Given the description of an element on the screen output the (x, y) to click on. 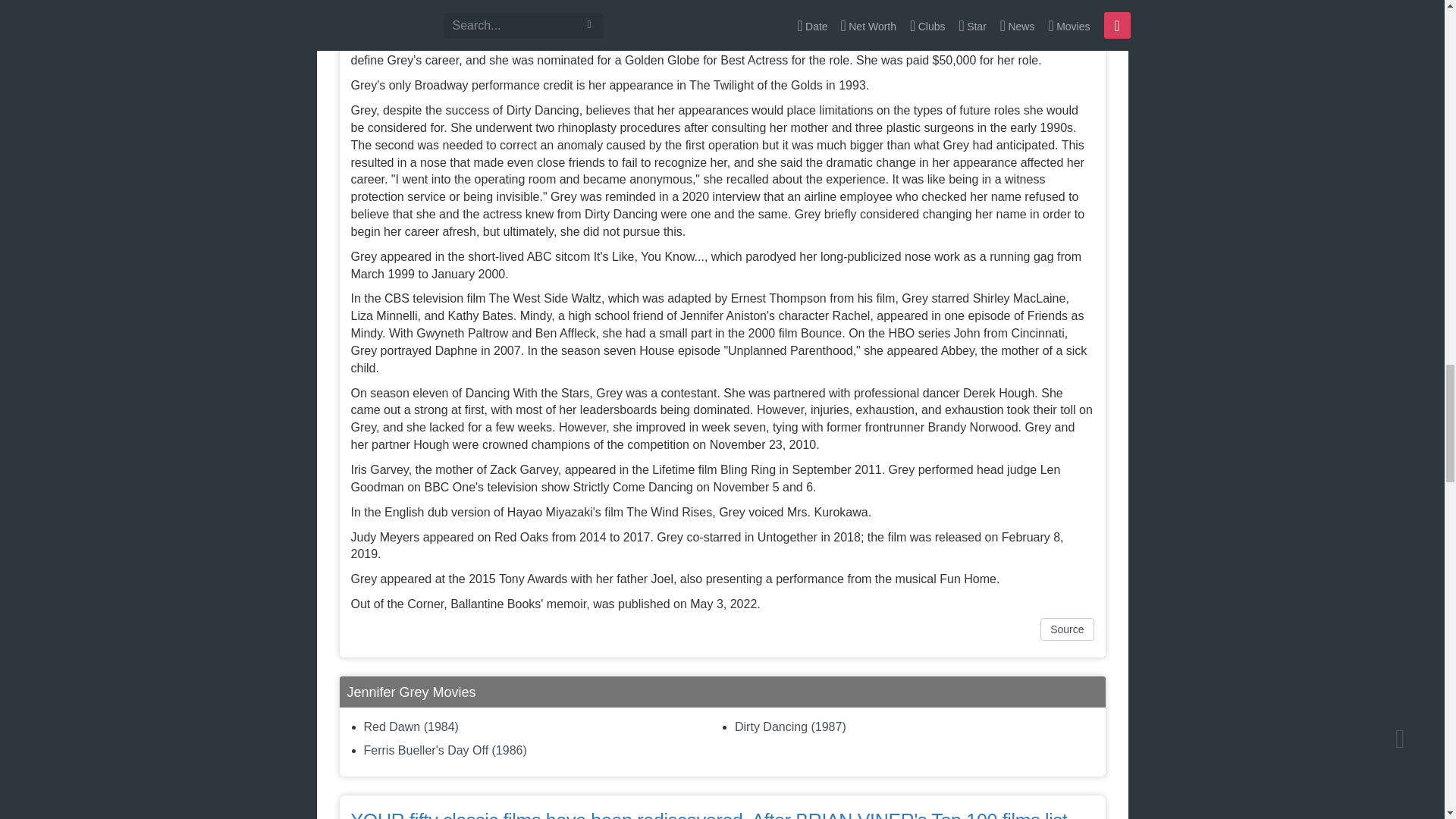
Source (1067, 629)
